Given the description of an element on the screen output the (x, y) to click on. 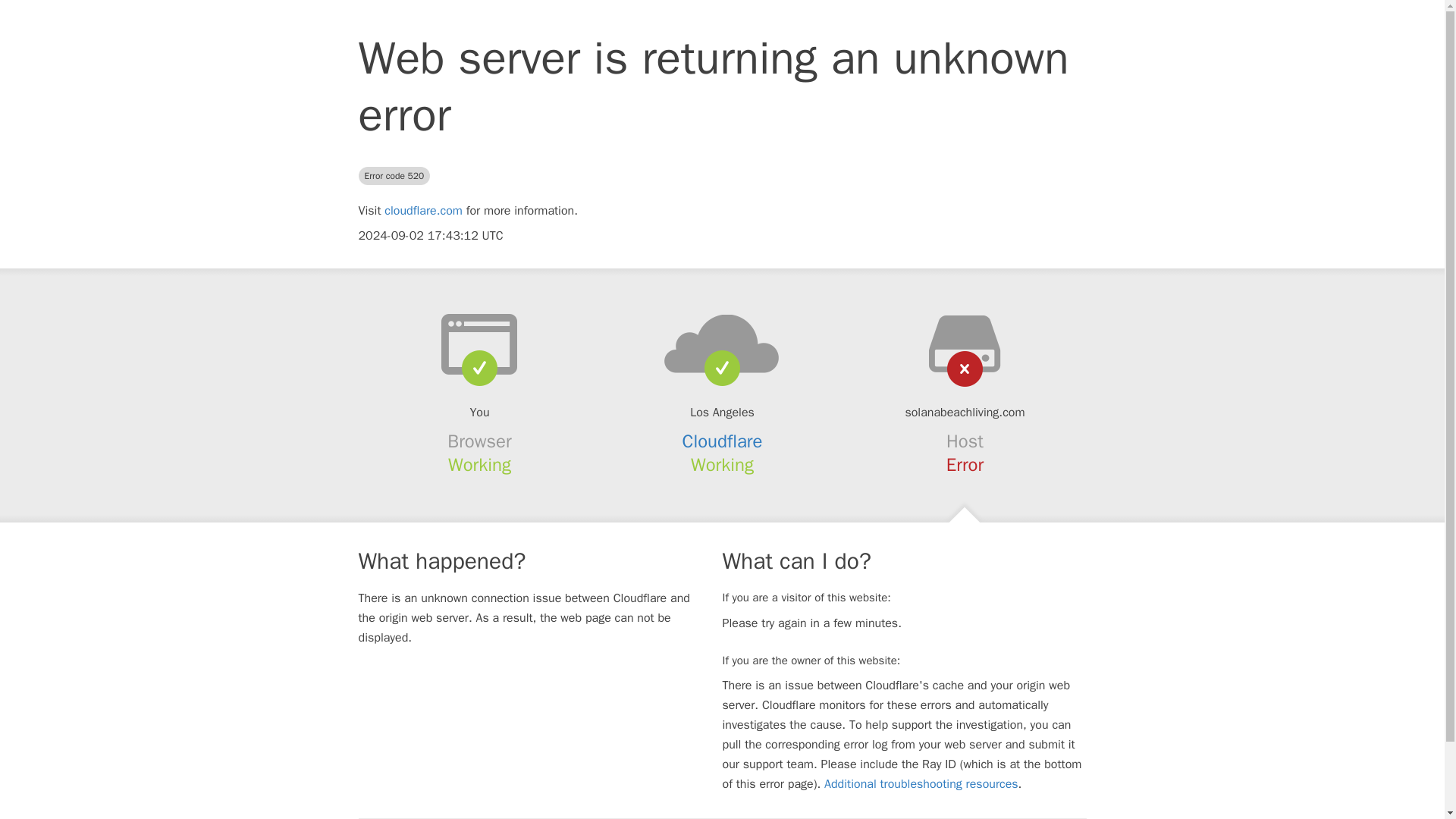
cloudflare.com (423, 210)
Additional troubleshooting resources (920, 783)
Cloudflare (722, 440)
